Given the description of an element on the screen output the (x, y) to click on. 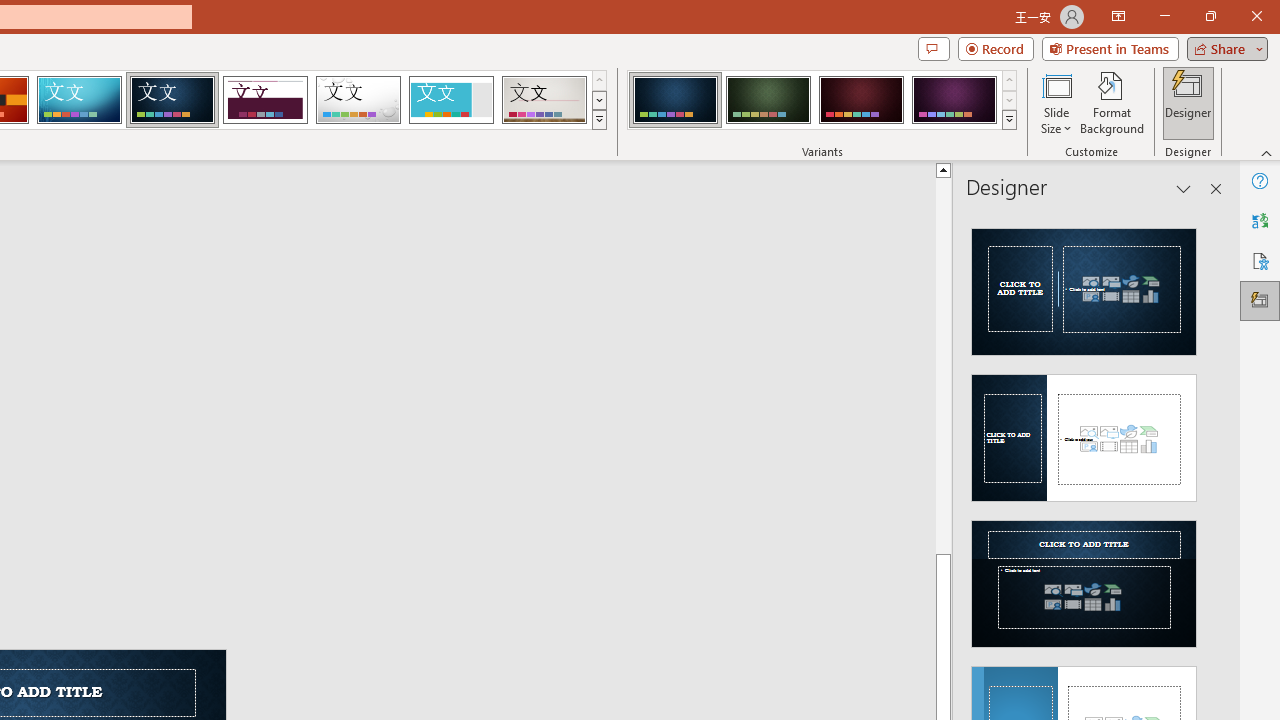
Format Background (1111, 102)
Damask Variant 2 (768, 100)
Frame (450, 100)
Recommended Design: Design Idea (1083, 286)
Damask (171, 100)
